Given the description of an element on the screen output the (x, y) to click on. 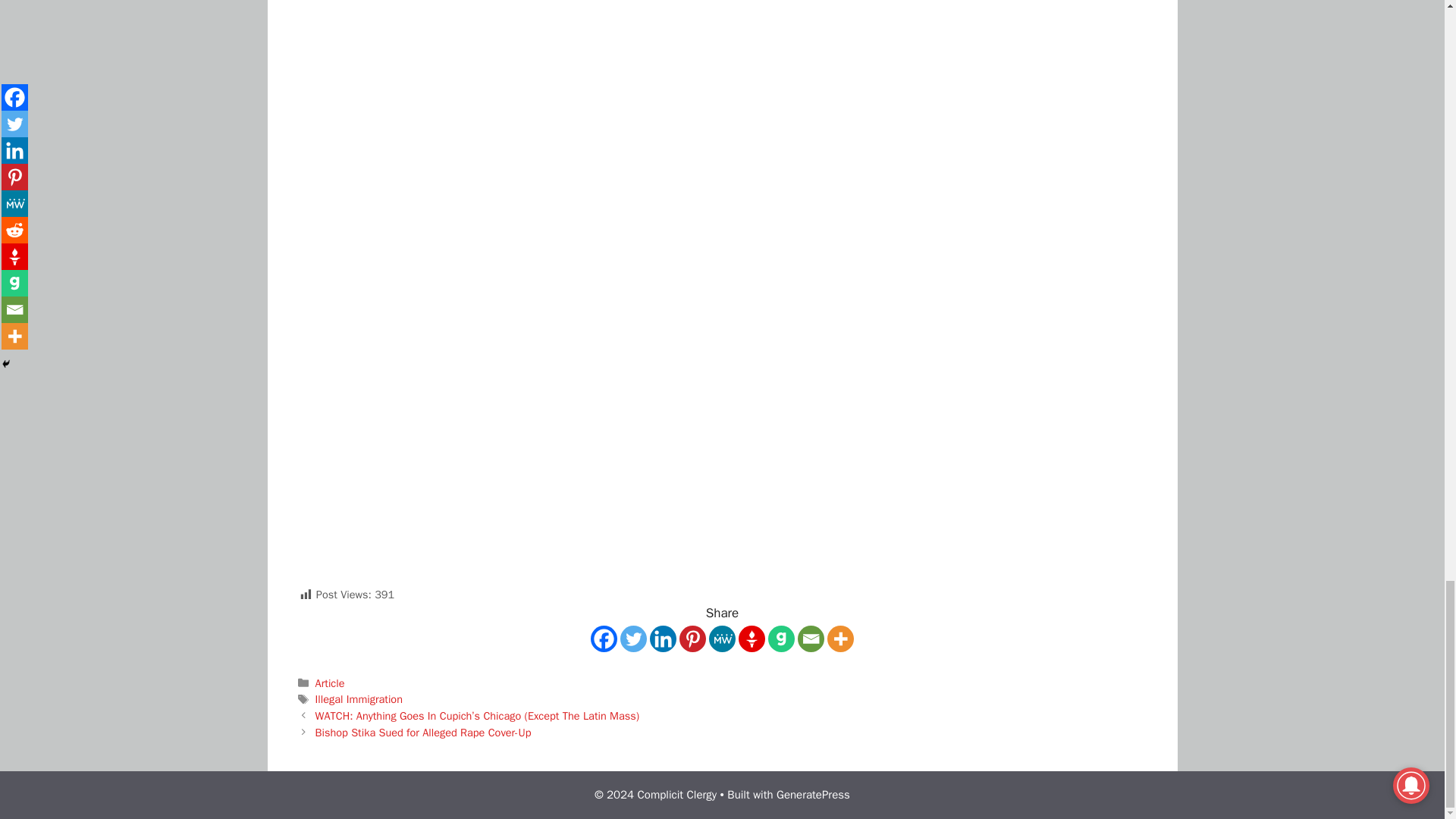
Gab (781, 638)
Email (810, 638)
Linkedin (663, 638)
MeWe (722, 638)
Pinterest (692, 638)
Gettr (751, 638)
Facebook (604, 638)
Twitter (633, 638)
More (840, 638)
